Given the description of an element on the screen output the (x, y) to click on. 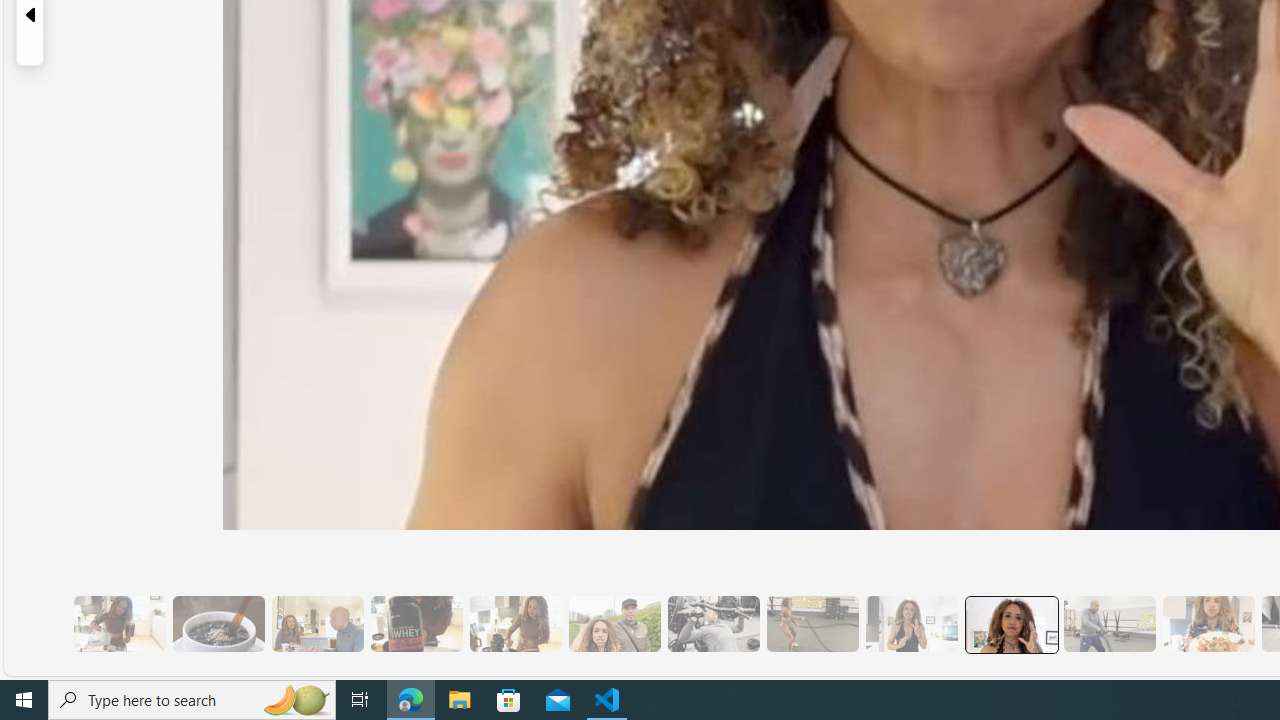
5 She Eats Less Than Her Husband (317, 624)
3 They Drink Lemon Tea (119, 624)
8 They Walk to the Gym (614, 624)
9 They Do Bench Exercises (713, 624)
5 She Eats Less Than Her Husband (317, 624)
7 They Don't Skip Meals (514, 624)
13 Her Husband Does Group Cardio Classs (1108, 624)
11 They Eat More Protein for Breakfast (911, 624)
9 They Do Bench Exercises (713, 624)
13 Her Husband Does Group Cardio Classs (1108, 624)
